Given the description of an element on the screen output the (x, y) to click on. 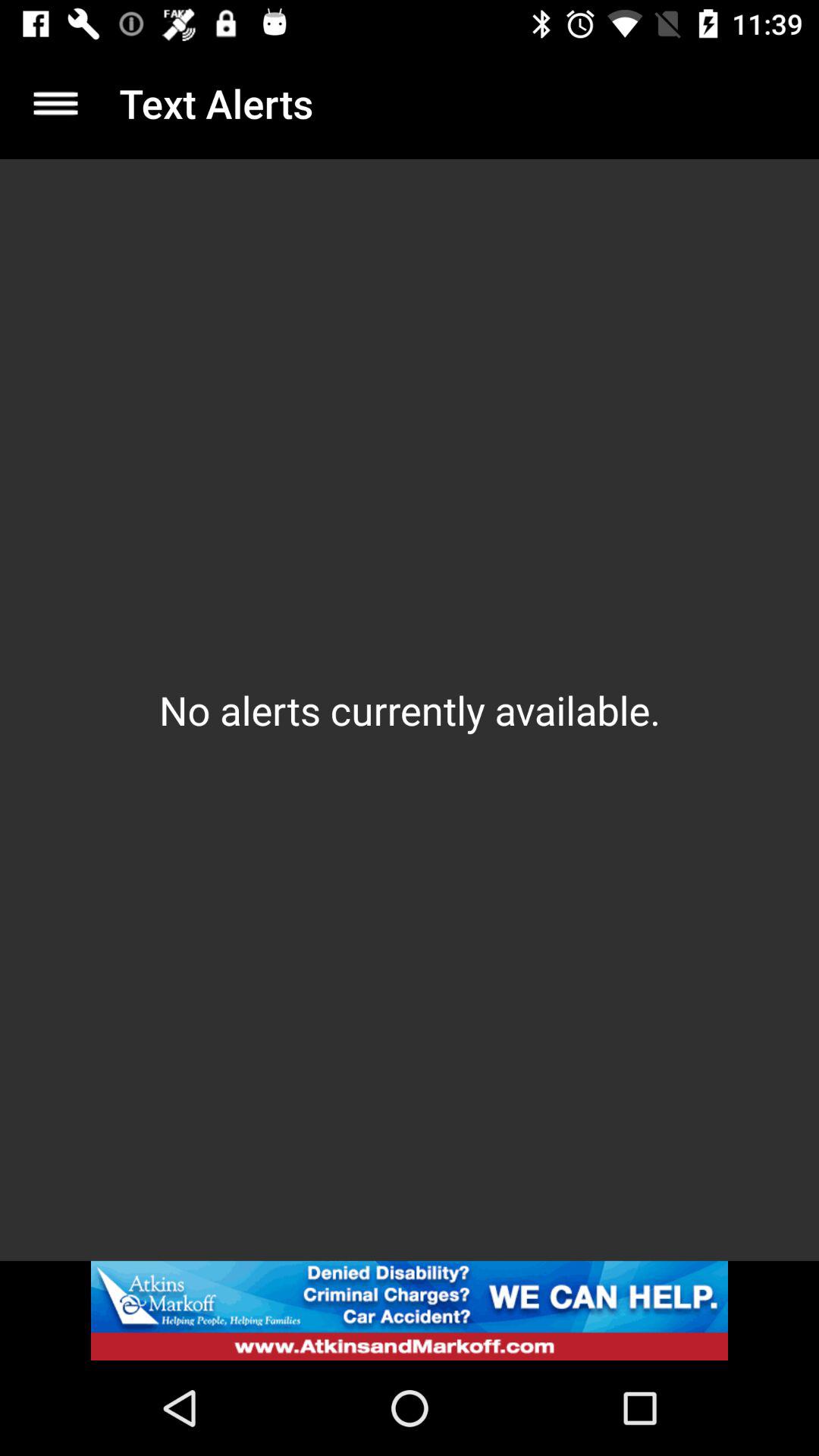
main menu (55, 103)
